Given the description of an element on the screen output the (x, y) to click on. 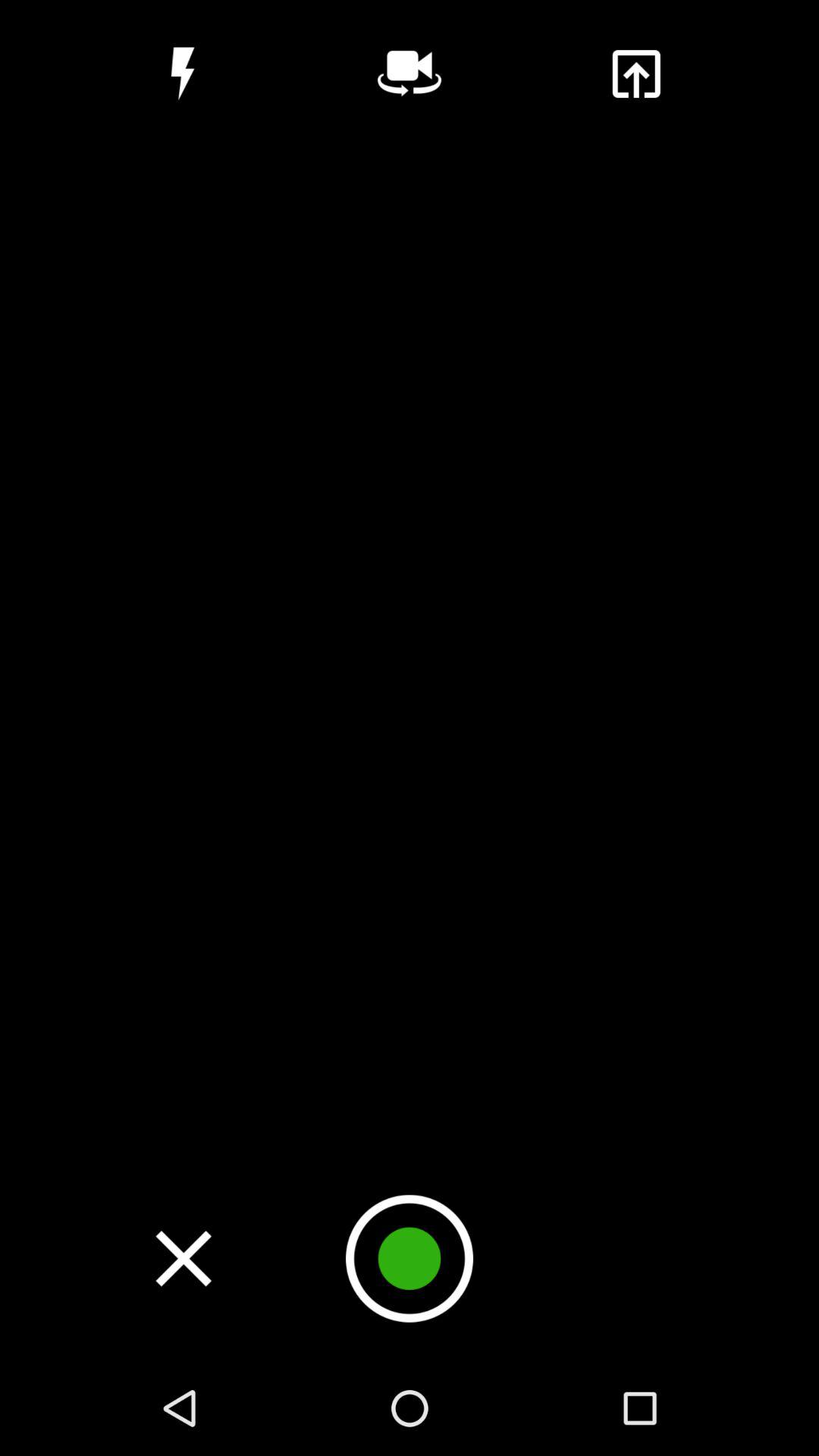
export video (635, 73)
